Given the description of an element on the screen output the (x, y) to click on. 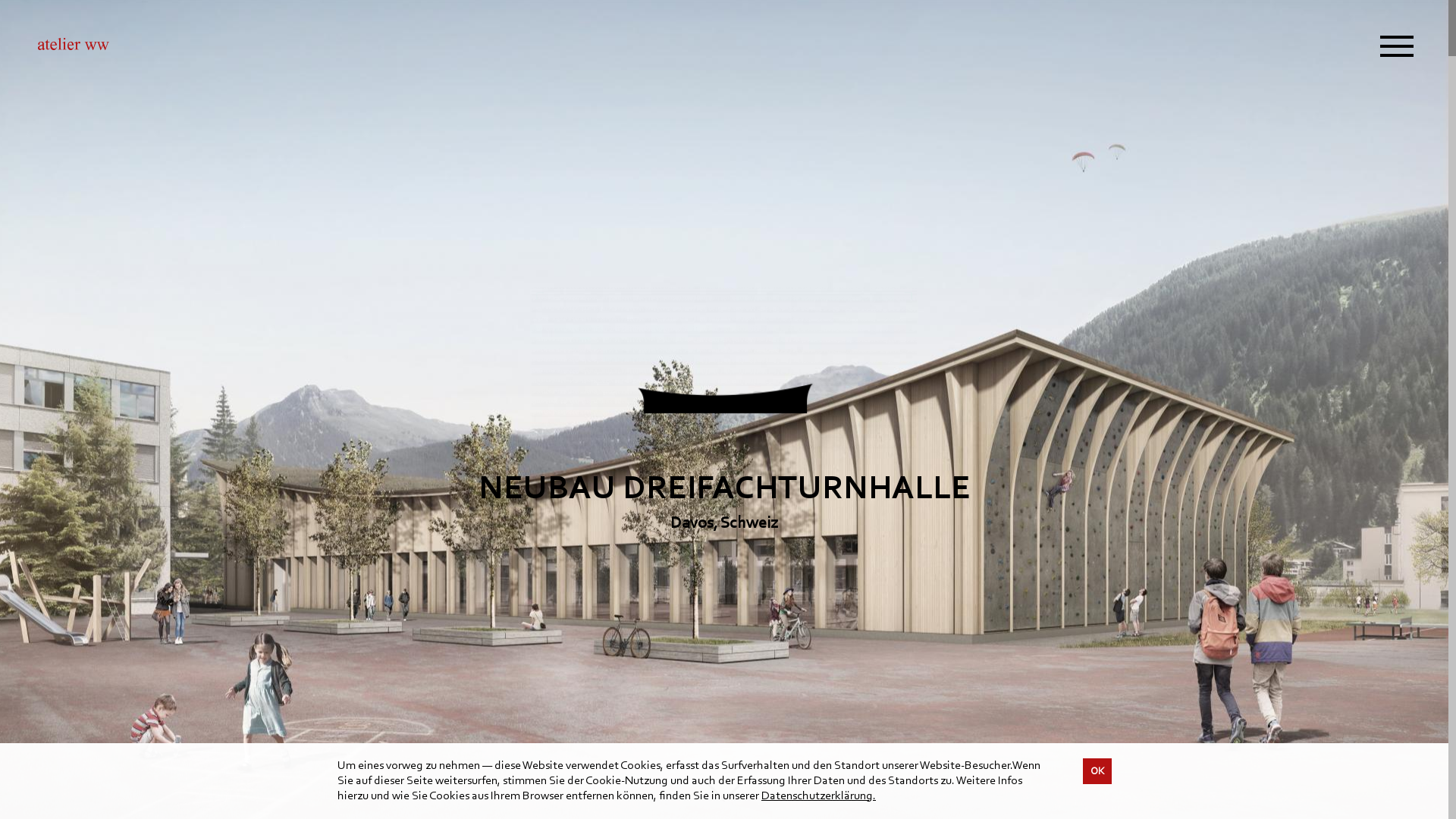
OK Element type: text (1096, 771)
Skip to main content Element type: text (0, 0)
